Given the description of an element on the screen output the (x, y) to click on. 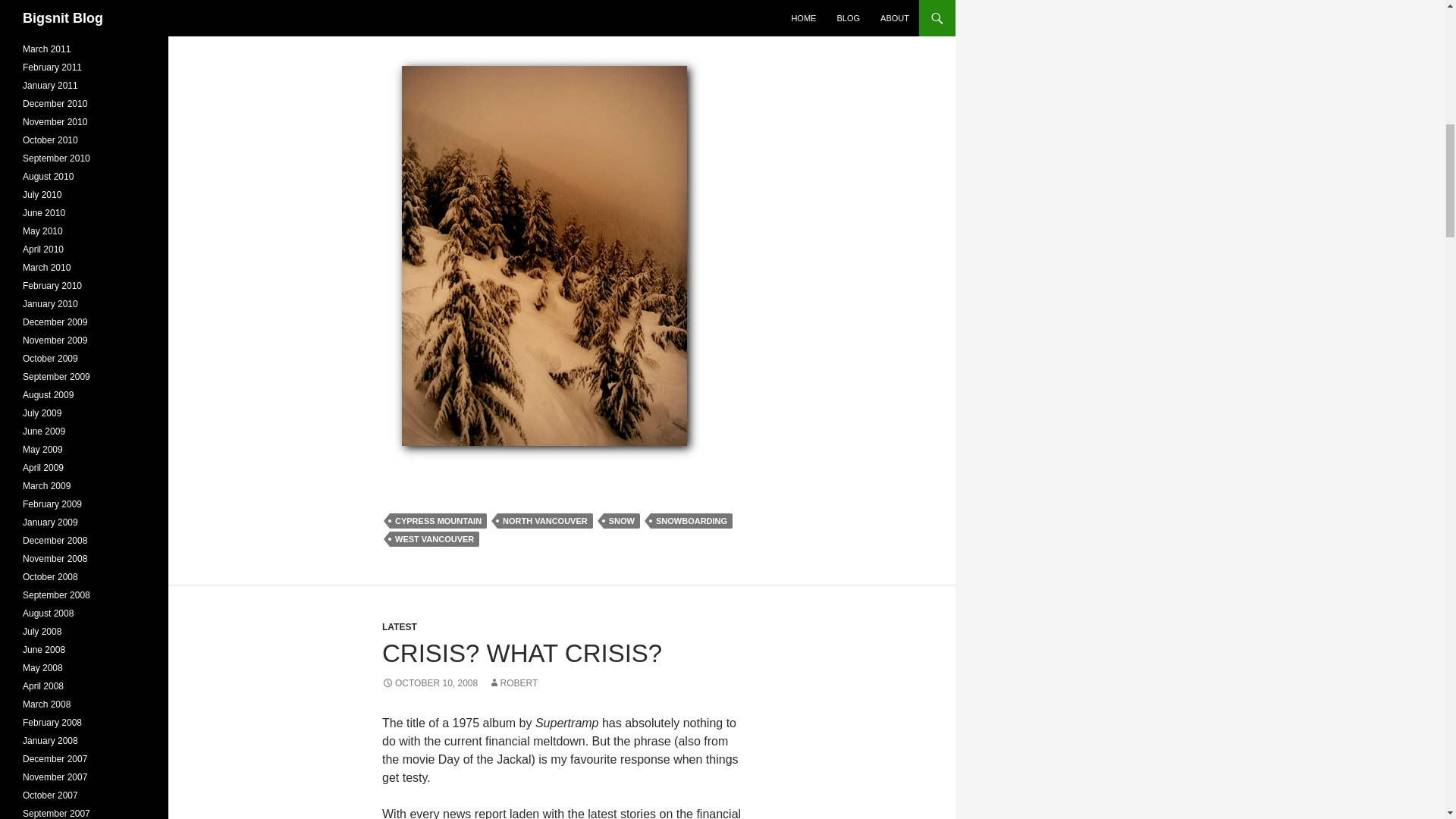
ROBERT (512, 683)
OCTOBER 10, 2008 (429, 683)
SNOW (622, 520)
SNOWBOARDING (691, 520)
CRISIS? WHAT CRISIS? (521, 653)
LATEST (398, 626)
WEST VANCOUVER (434, 539)
NORTH VANCOUVER (544, 520)
CYPRESS MOUNTAIN (438, 520)
